Given the description of an element on the screen output the (x, y) to click on. 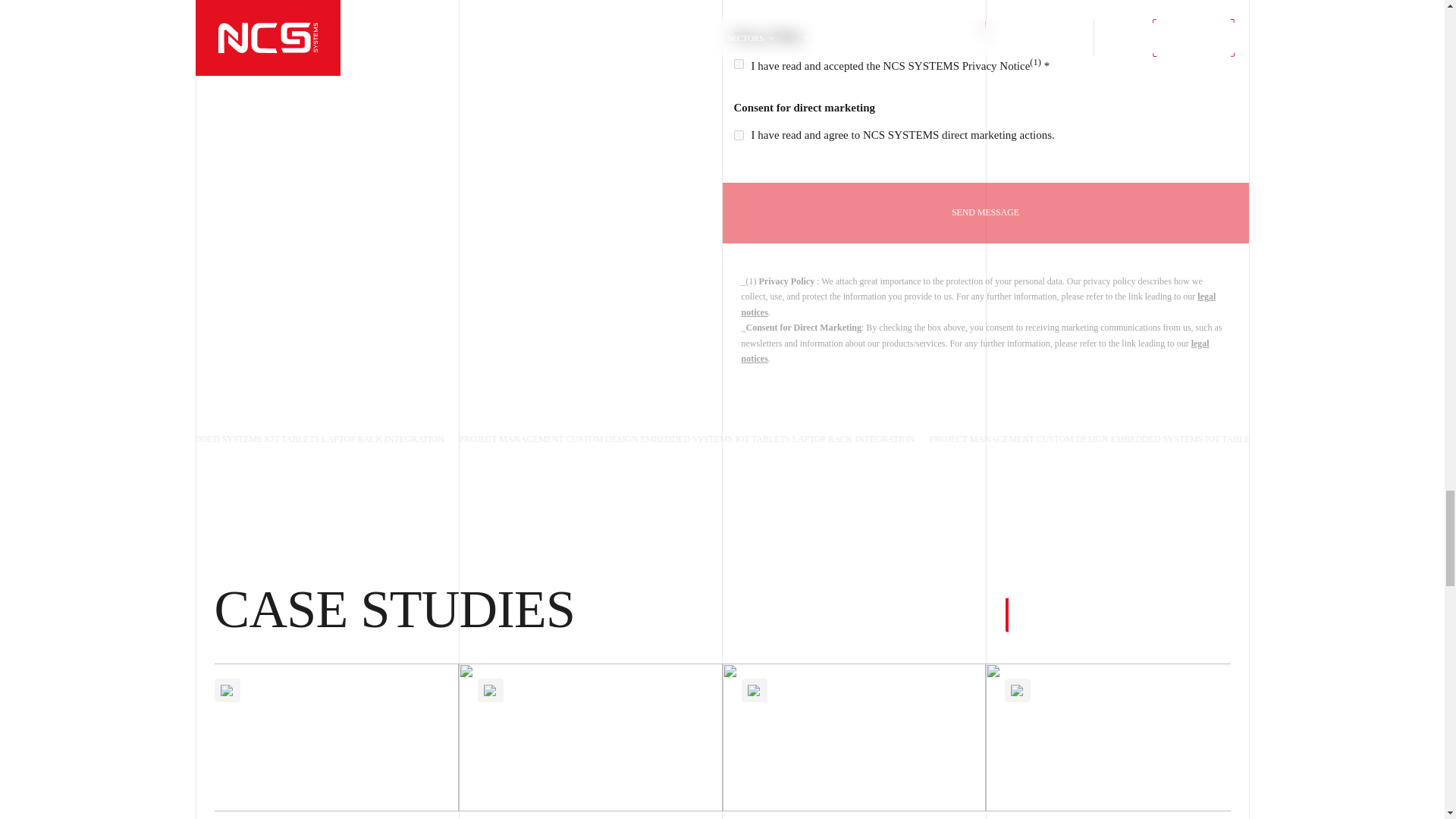
Send message (984, 212)
on (738, 135)
on (738, 63)
